Given the description of an element on the screen output the (x, y) to click on. 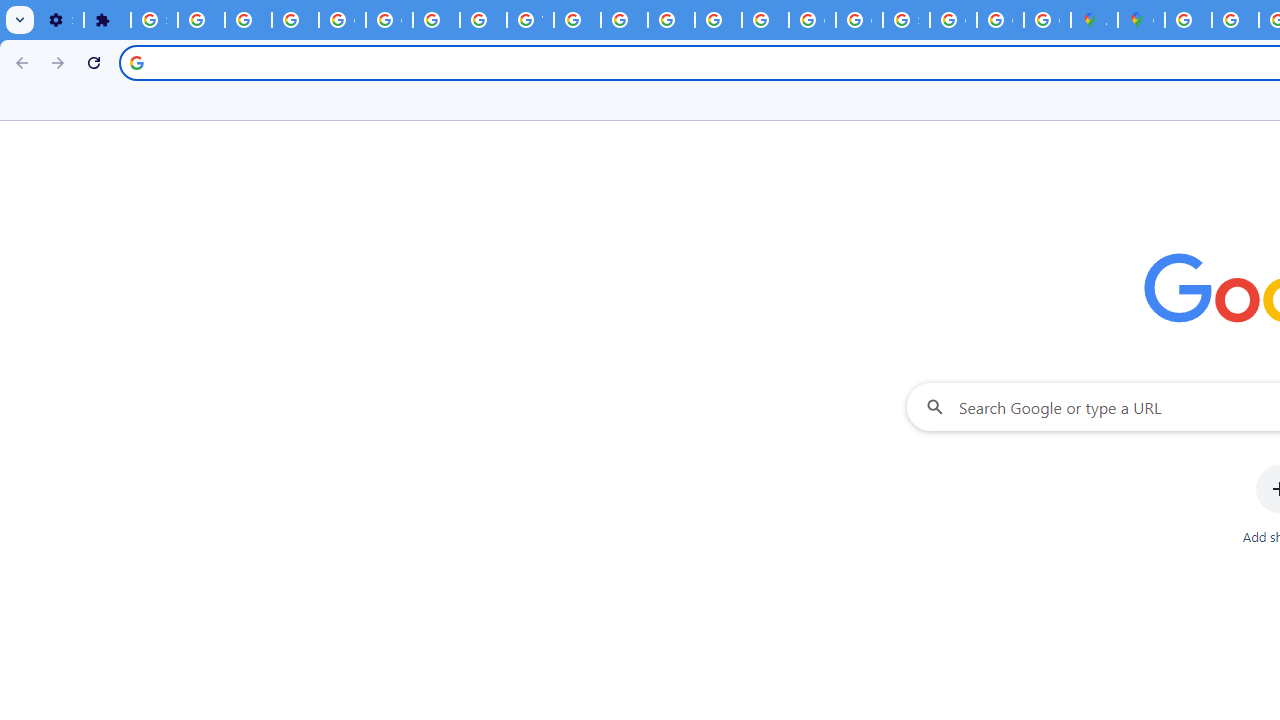
Create your Google Account (1047, 20)
